Given the description of an element on the screen output the (x, y) to click on. 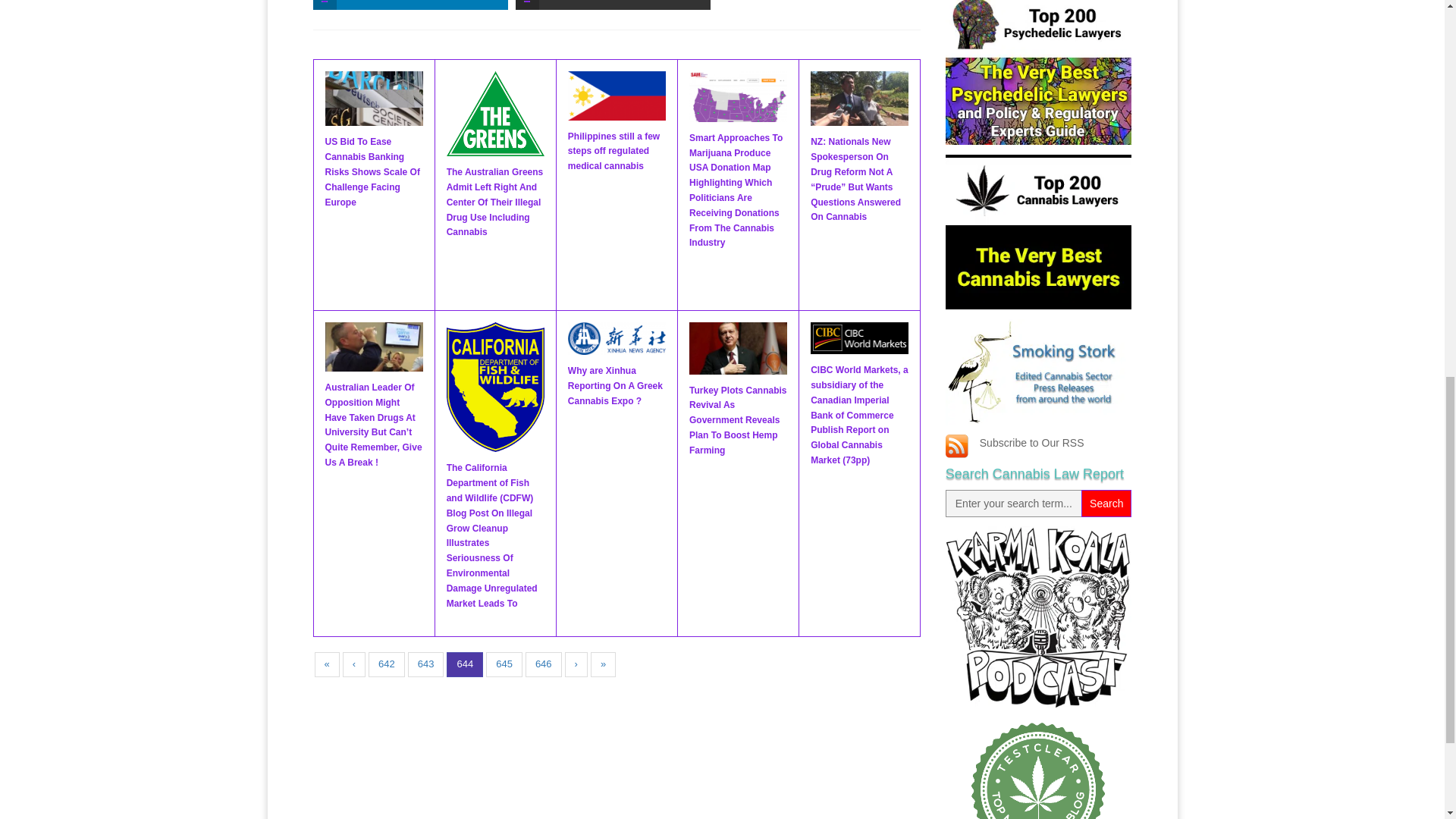
Current page is 644 (464, 664)
Go to page 645 (504, 664)
Go to previous page (353, 664)
Go to page 643 (425, 664)
Go to first page (326, 664)
Search (1106, 502)
Go to page 642 (386, 664)
Search (1106, 502)
Go to page 646 (543, 664)
Go to last page (603, 664)
Go to next page (576, 664)
